Given the description of an element on the screen output the (x, y) to click on. 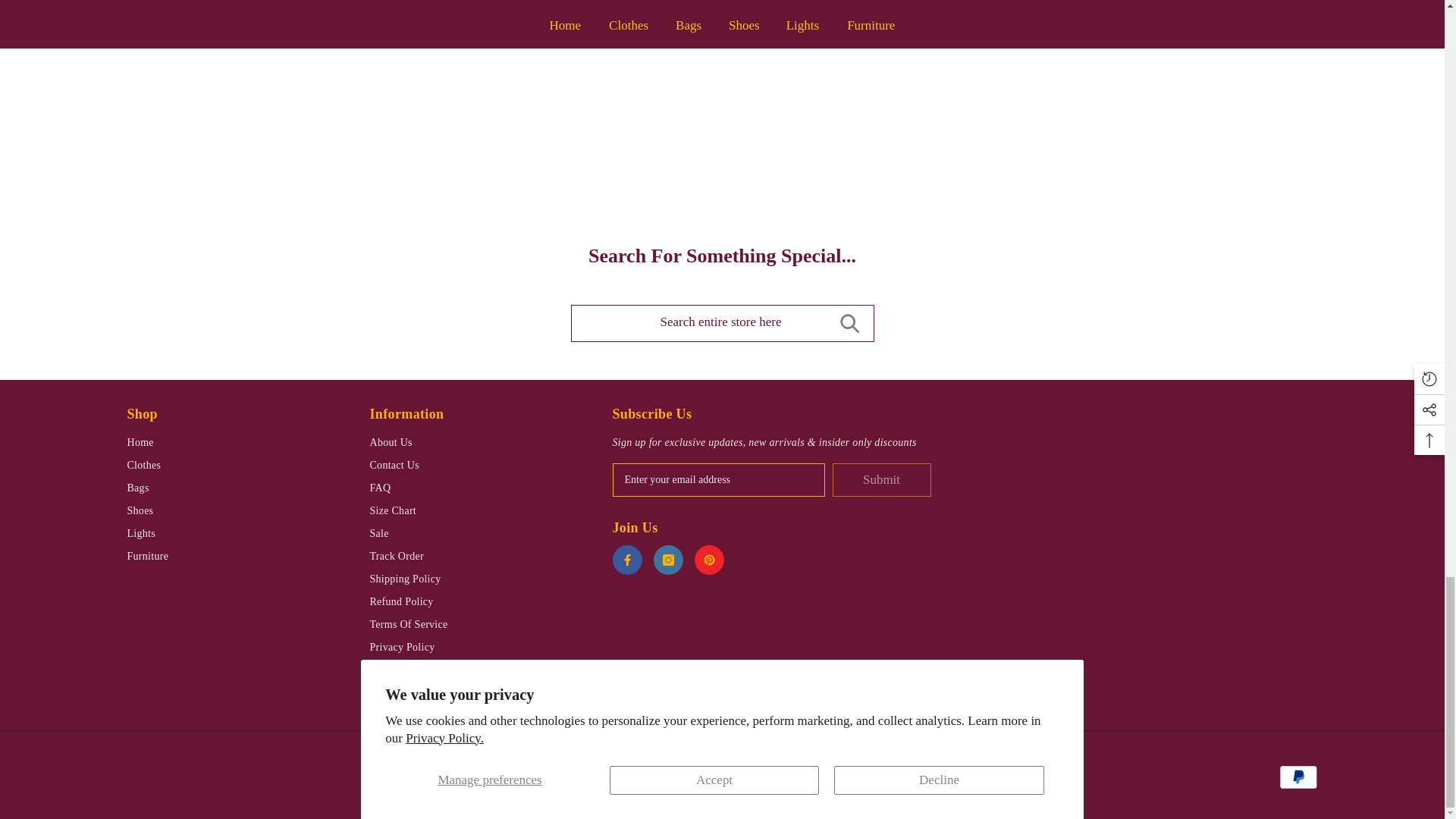
PayPal (1298, 776)
